Given the description of an element on the screen output the (x, y) to click on. 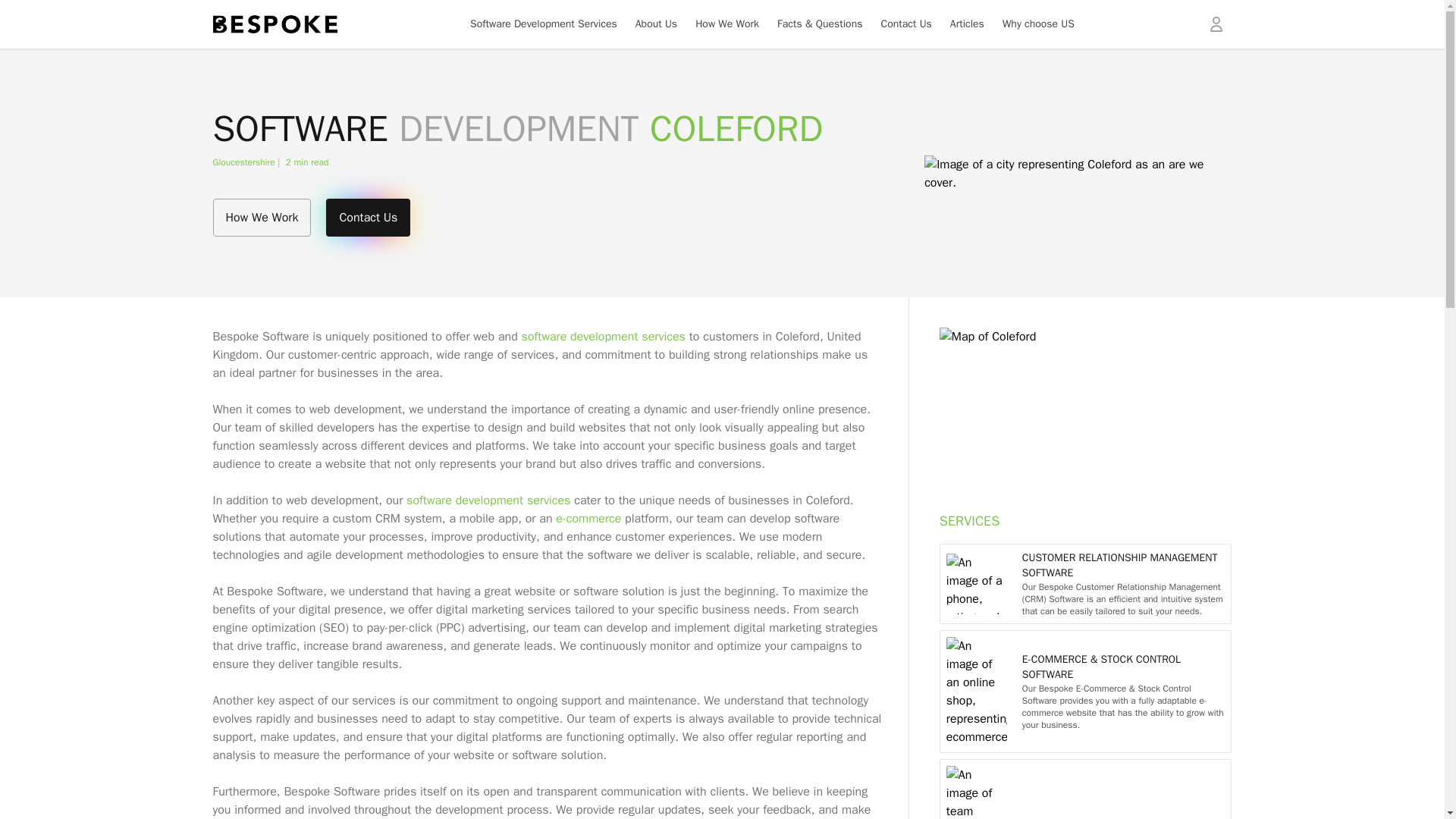
Link to contact us page (368, 217)
Sign in (1216, 24)
Bespoke.ws Ltd (274, 24)
software development services (603, 336)
Link to Why choose US (1038, 24)
CUSTOMER RELATIONSHIP MANAGEMENT SOFTWARE (1123, 572)
Link to our Gloucestershire page (248, 162)
Link to how we work page (261, 217)
Why choose US (1038, 24)
Contact Us (905, 24)
How We Work (726, 24)
Software Development Services (543, 24)
Link to software development services page. (603, 336)
How We Work (261, 217)
Sign in (1216, 24)
